Given the description of an element on the screen output the (x, y) to click on. 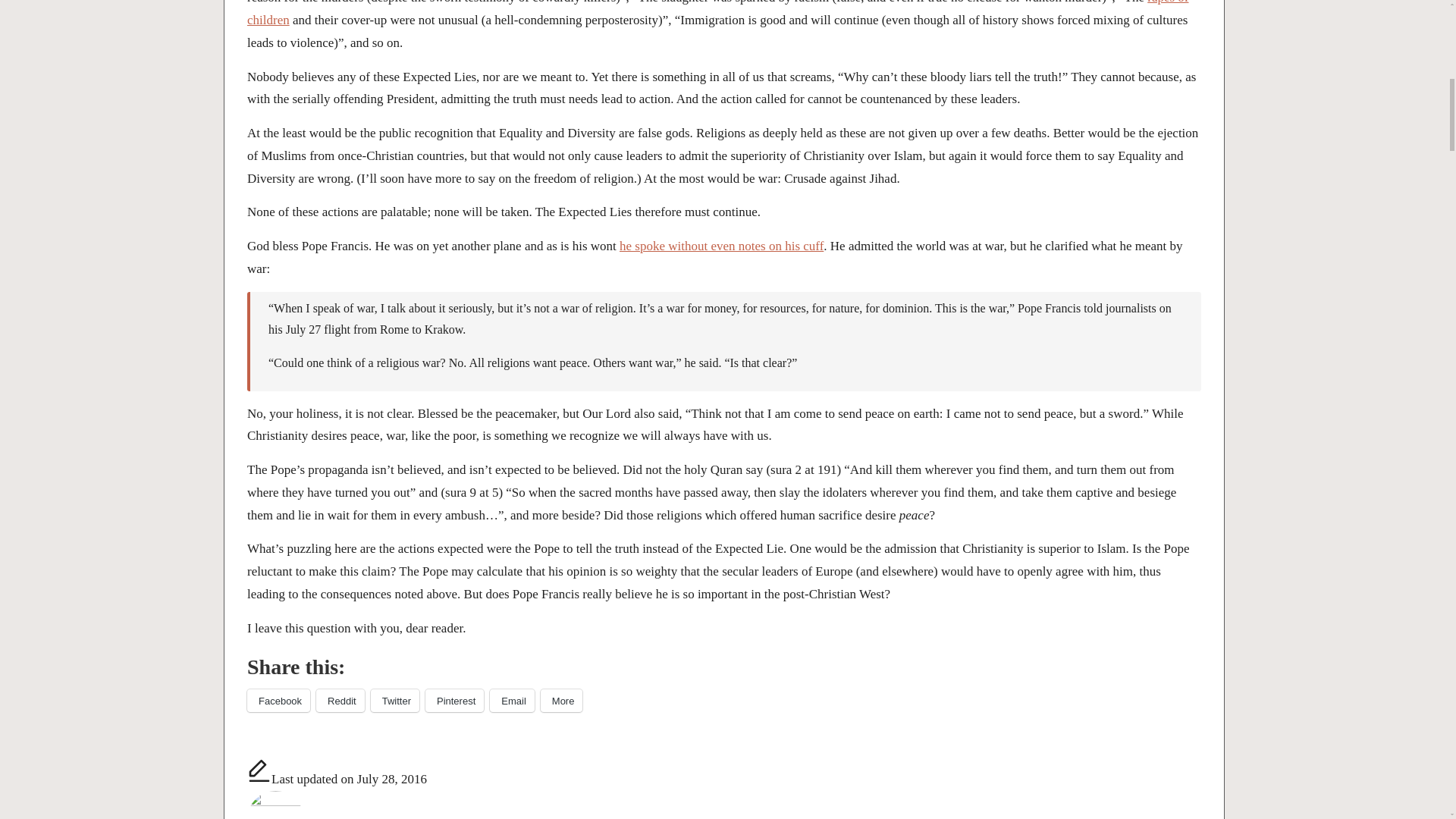
Pinterest (454, 700)
Reddit (340, 700)
Click to share on Facebook (278, 700)
Email (511, 700)
rapes of children (718, 13)
Click to share on Pinterest (454, 700)
Twitter (395, 700)
he spoke without even notes on his cuff (722, 246)
Click to email a link to a friend (511, 700)
Click to share on Twitter (395, 700)
More (561, 700)
Facebook (278, 700)
Click to share on Reddit (340, 700)
